Given the description of an element on the screen output the (x, y) to click on. 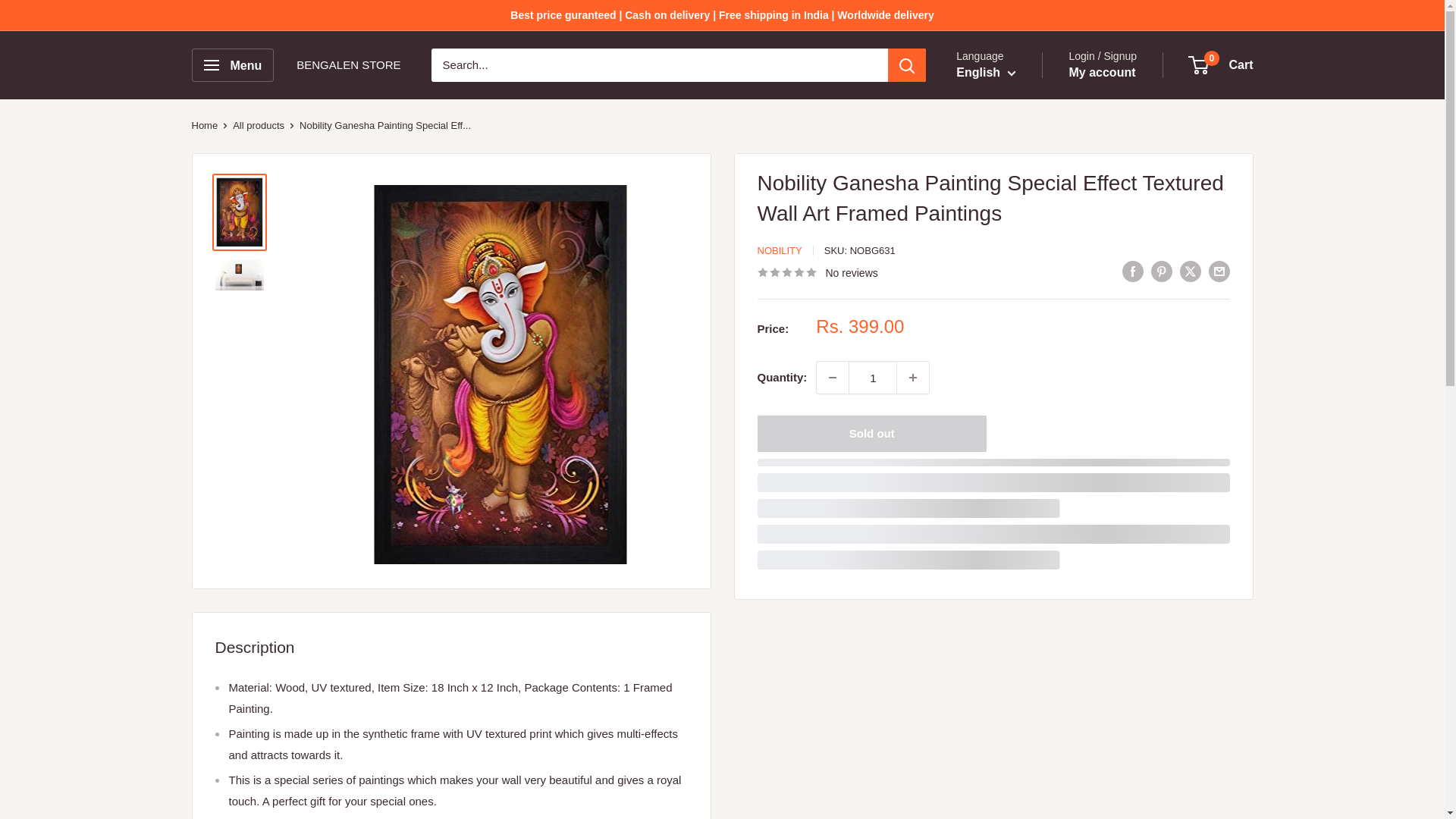
Decrease quantity by 1 (832, 377)
Increase quantity by 1 (912, 377)
1 (872, 377)
